Given the description of an element on the screen output the (x, y) to click on. 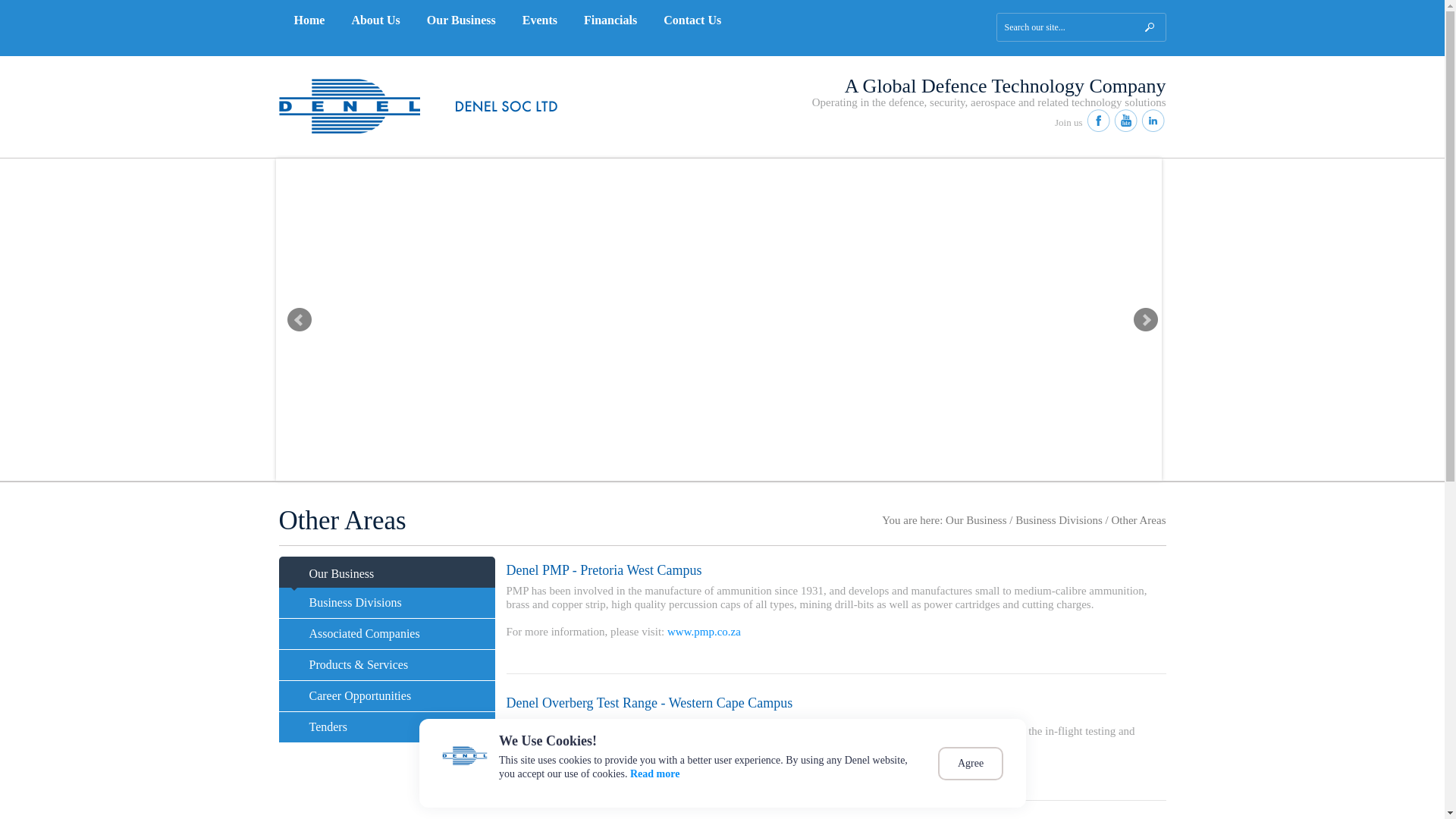
Tenders (387, 726)
Next (1144, 319)
Career Opportunities (387, 695)
www.pmp.co.za (703, 631)
Associated Companies (387, 634)
Search our site... (1080, 27)
www.denelotr.co.za (714, 771)
Business Divisions (387, 603)
Prev (298, 319)
